Given the description of an element on the screen output the (x, y) to click on. 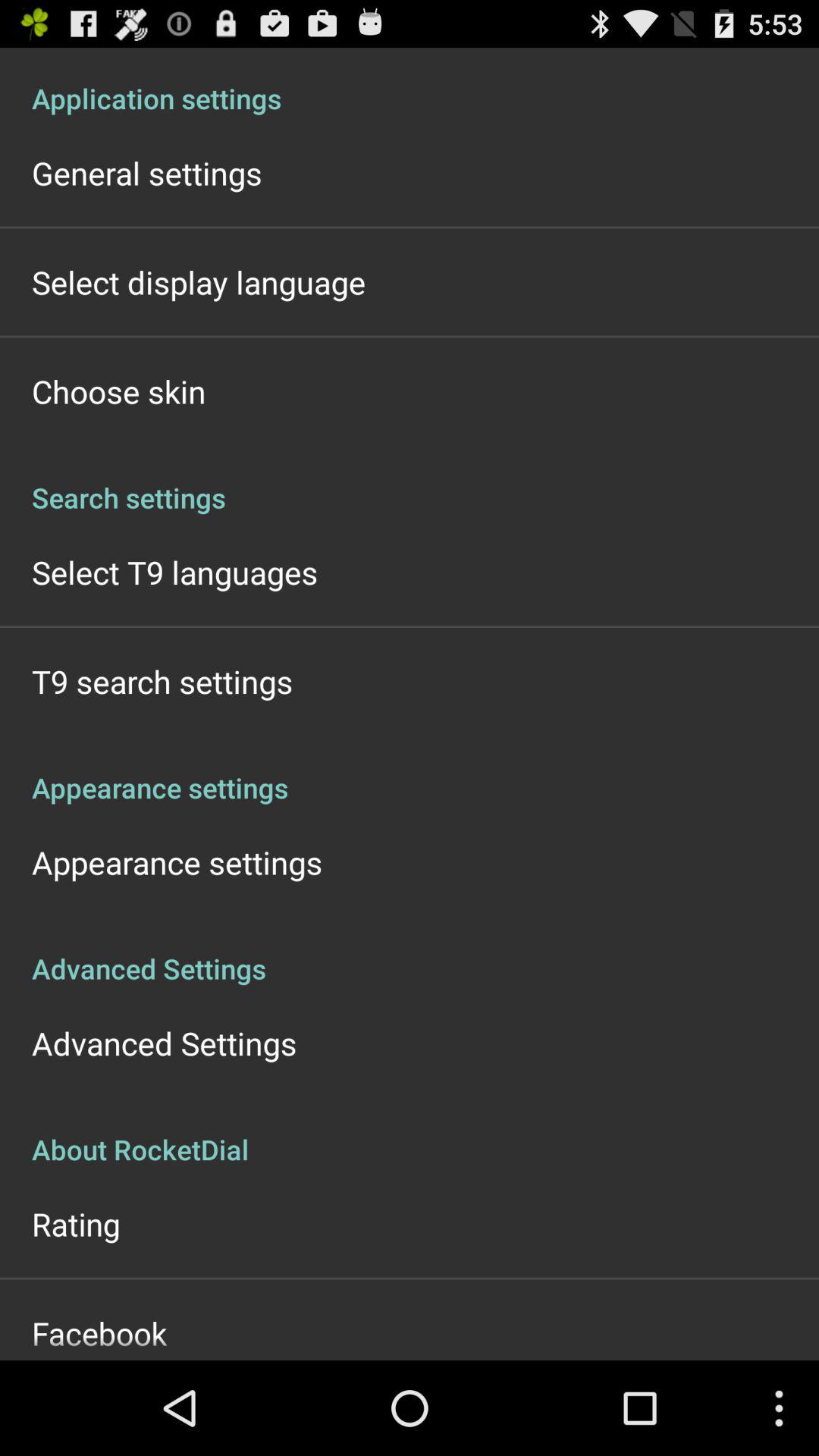
click the select t9 languages item (174, 571)
